Given the description of an element on the screen output the (x, y) to click on. 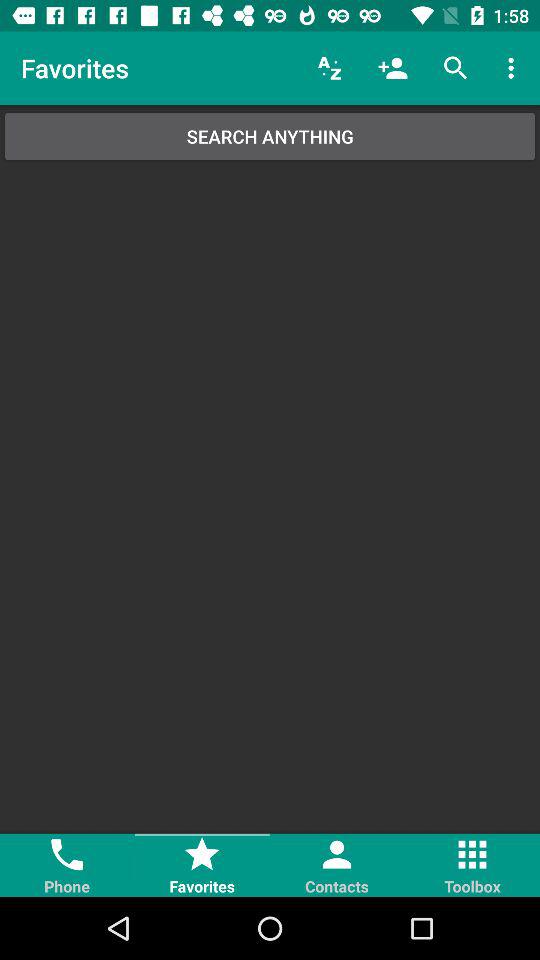
tap the icon next to the favorites icon (329, 67)
